Given the description of an element on the screen output the (x, y) to click on. 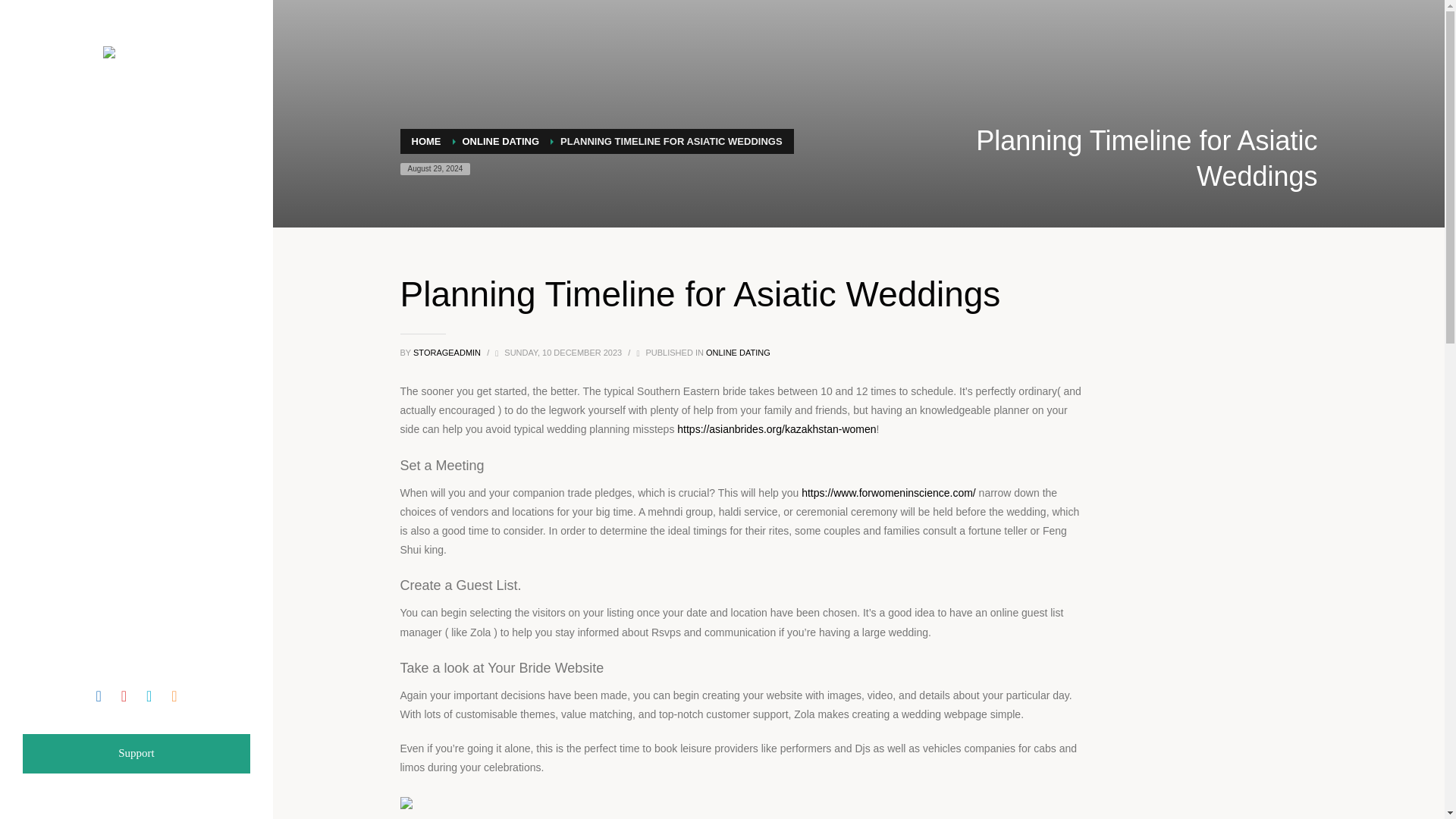
ONLINE DATING (501, 141)
Support (136, 753)
HOME (425, 141)
ONLINE DATING (738, 352)
Your Personal Backup Space (136, 56)
STORAGEADMIN (448, 352)
